Given the description of an element on the screen output the (x, y) to click on. 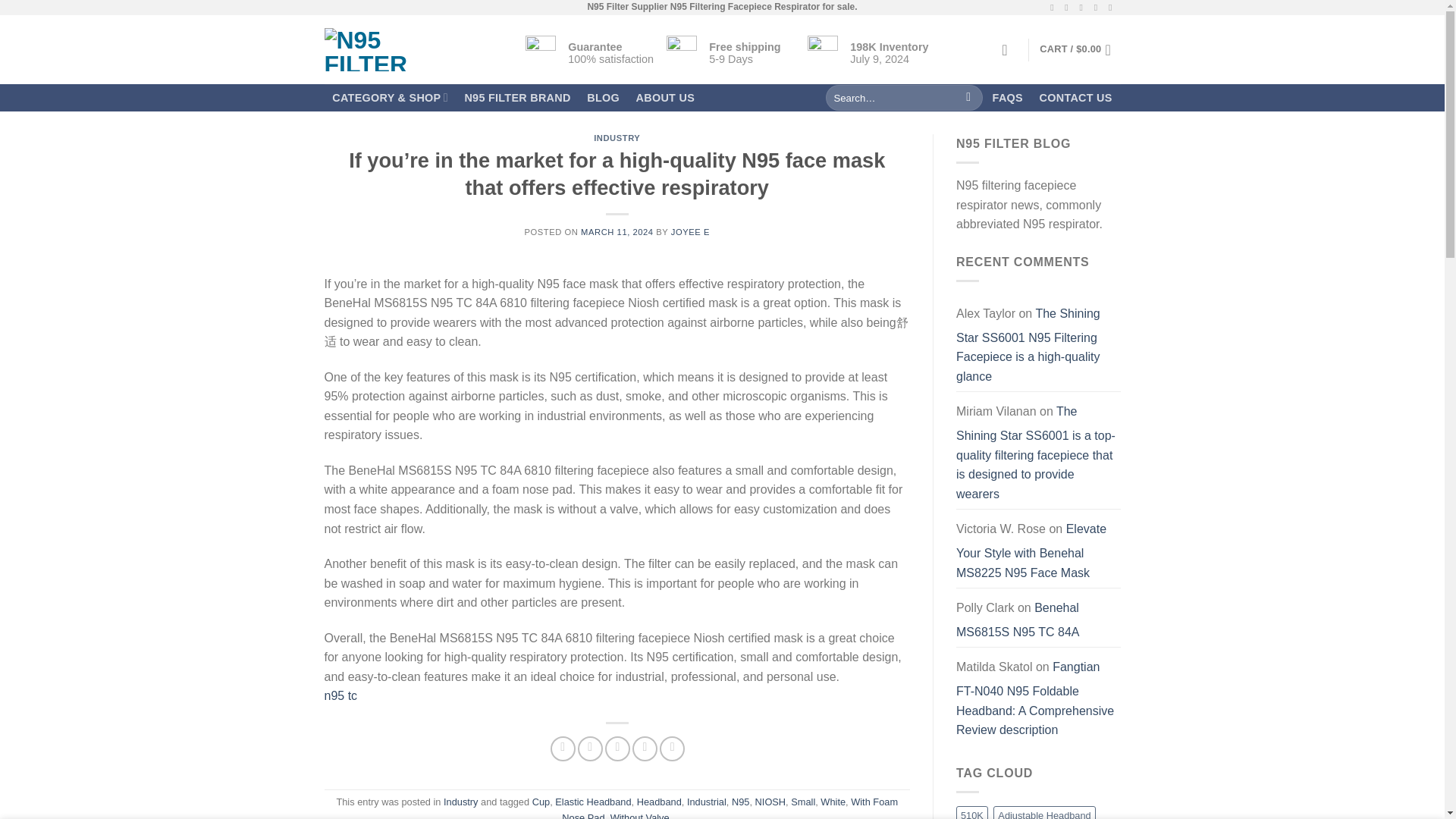
Share on Facebook (562, 748)
Share on Twitter (590, 748)
Cart (1079, 49)
 benehal n95 mask n95 tc (341, 695)
